Given the description of an element on the screen output the (x, y) to click on. 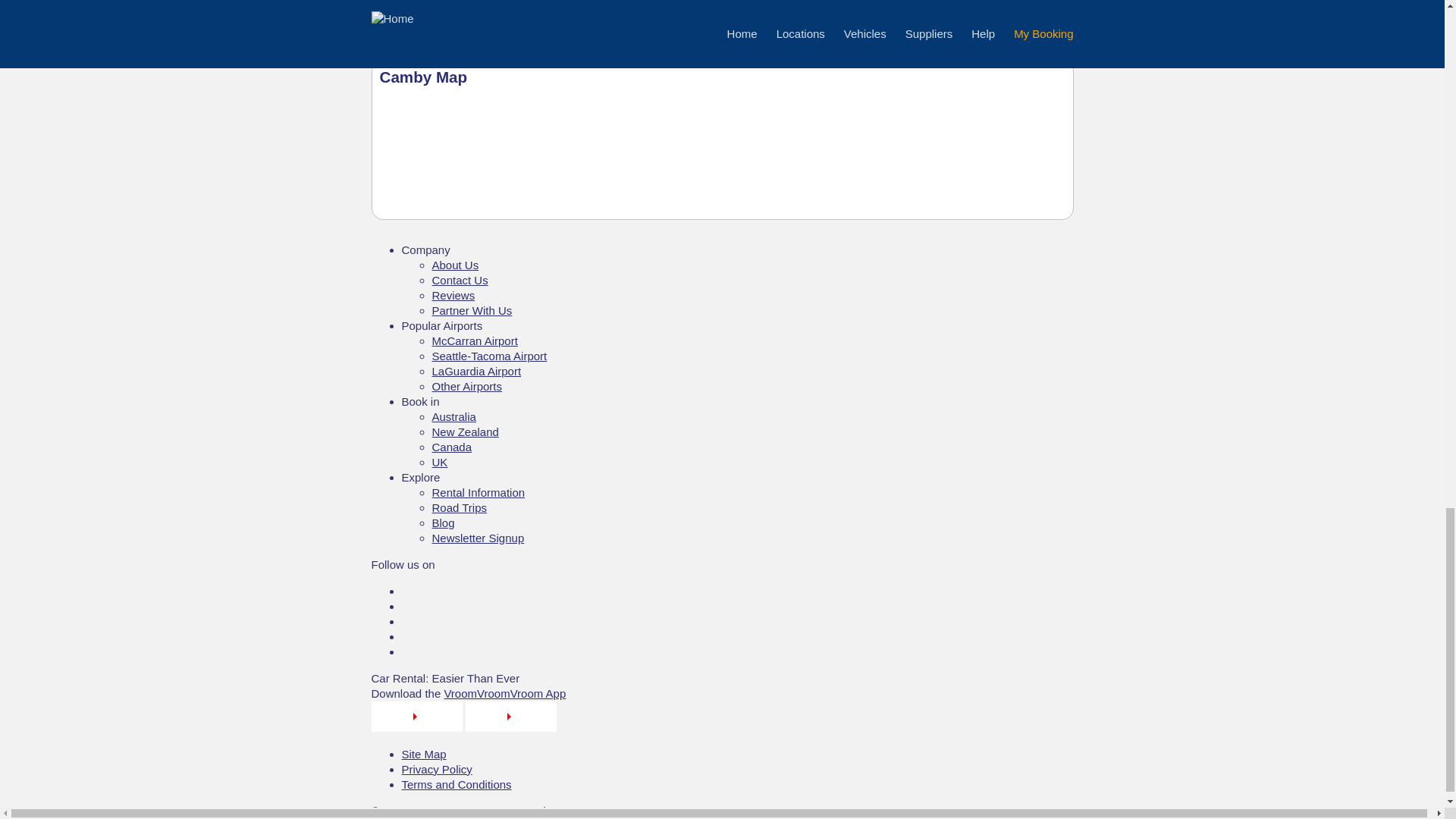
IOS App (417, 727)
Martinsville (410, 11)
Google App (510, 727)
